Given the description of an element on the screen output the (x, y) to click on. 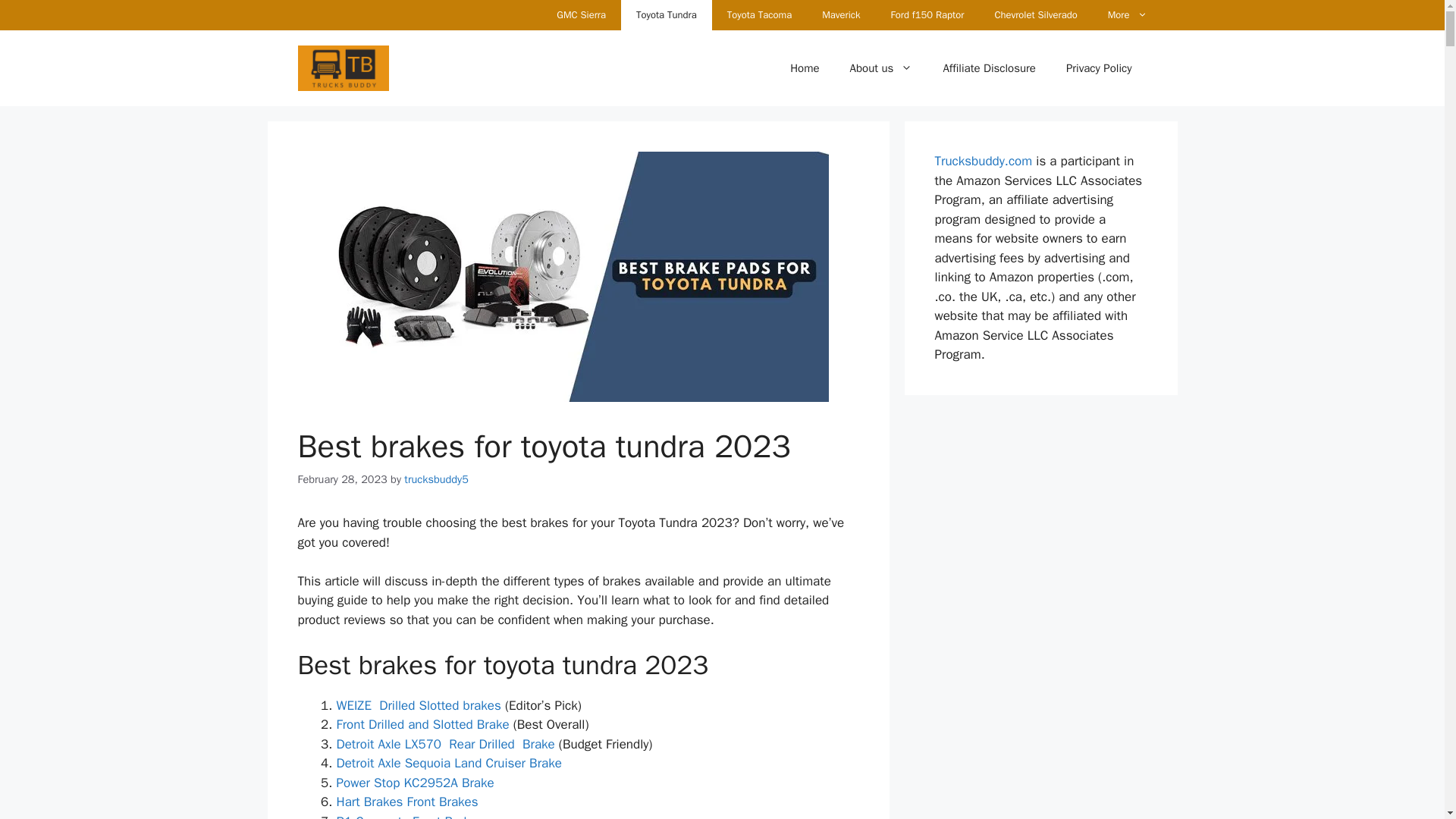
Affiliate Disclosure (989, 67)
About us (881, 67)
Power Stop KC2952A Brake (415, 782)
Toyota Tacoma (758, 15)
Detroit Axle Sequoia Land Cruiser Brake  (451, 763)
View all posts by trucksbuddy5 (436, 479)
Ford f150 Raptor (927, 15)
R1 Concepts Front Brakes (410, 816)
Maverick (840, 15)
Detroit Axle LX570  Rear Drilled  Brake (445, 744)
